Given the description of an element on the screen output the (x, y) to click on. 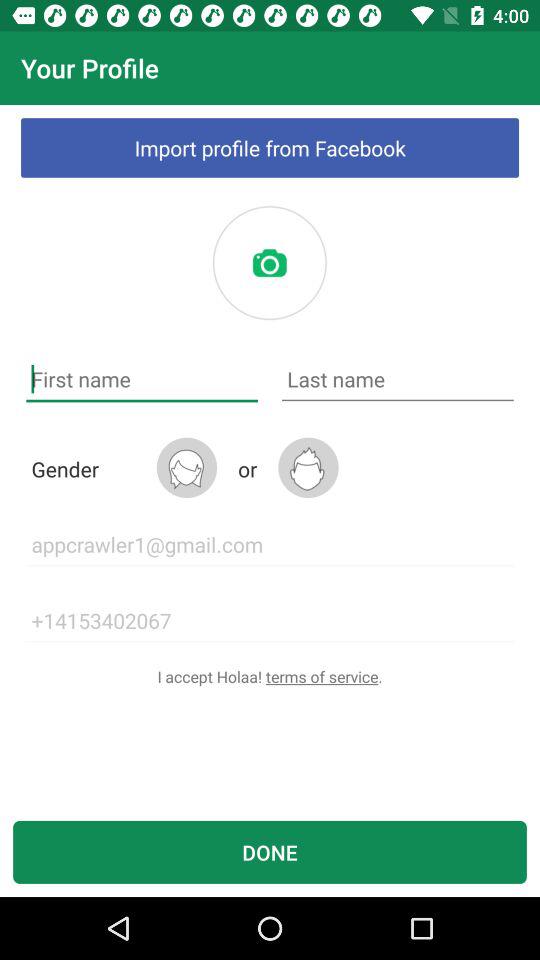
jump until the i accept holaa (269, 676)
